Given the description of an element on the screen output the (x, y) to click on. 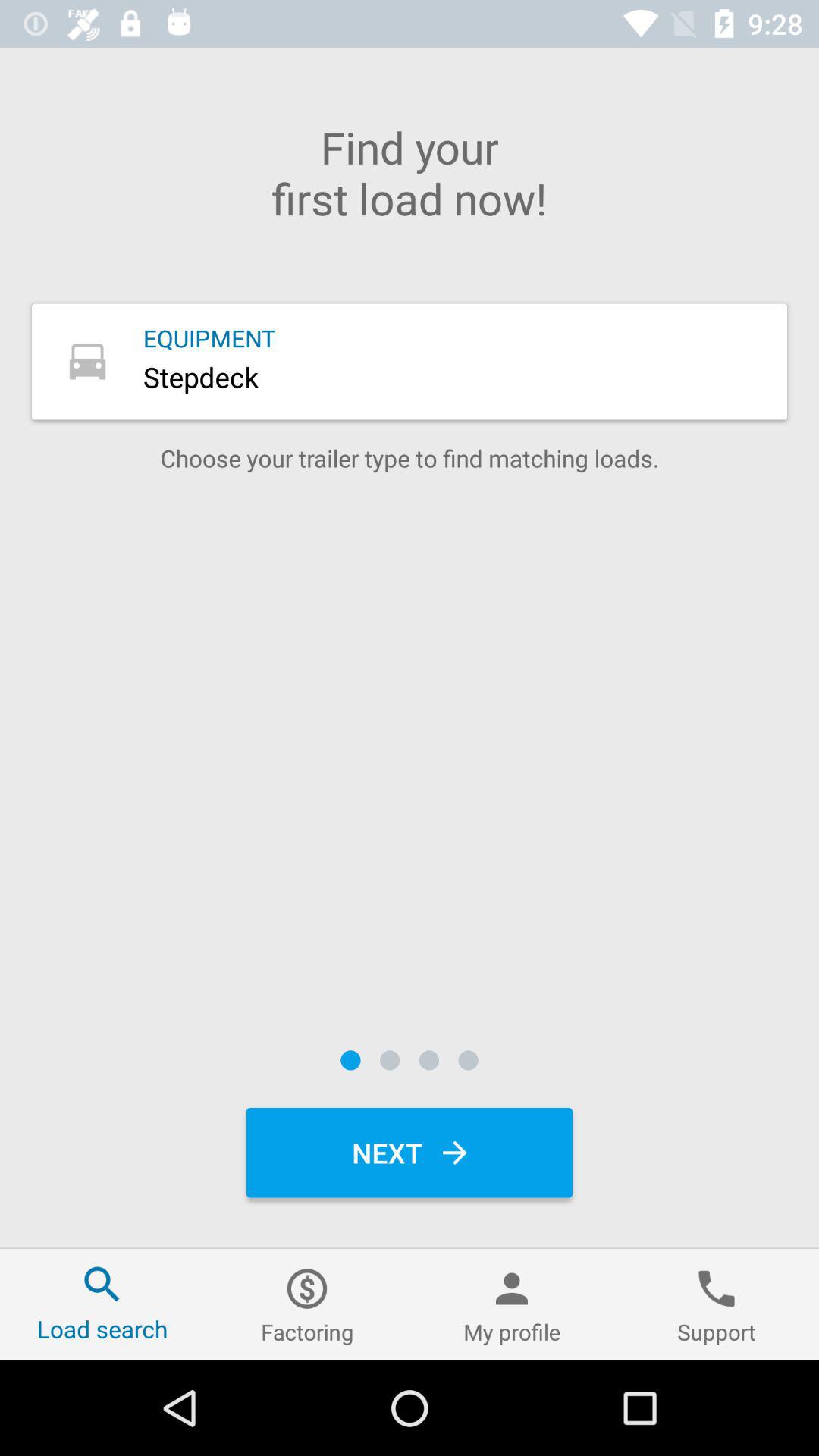
flip until factoring item (306, 1304)
